Given the description of an element on the screen output the (x, y) to click on. 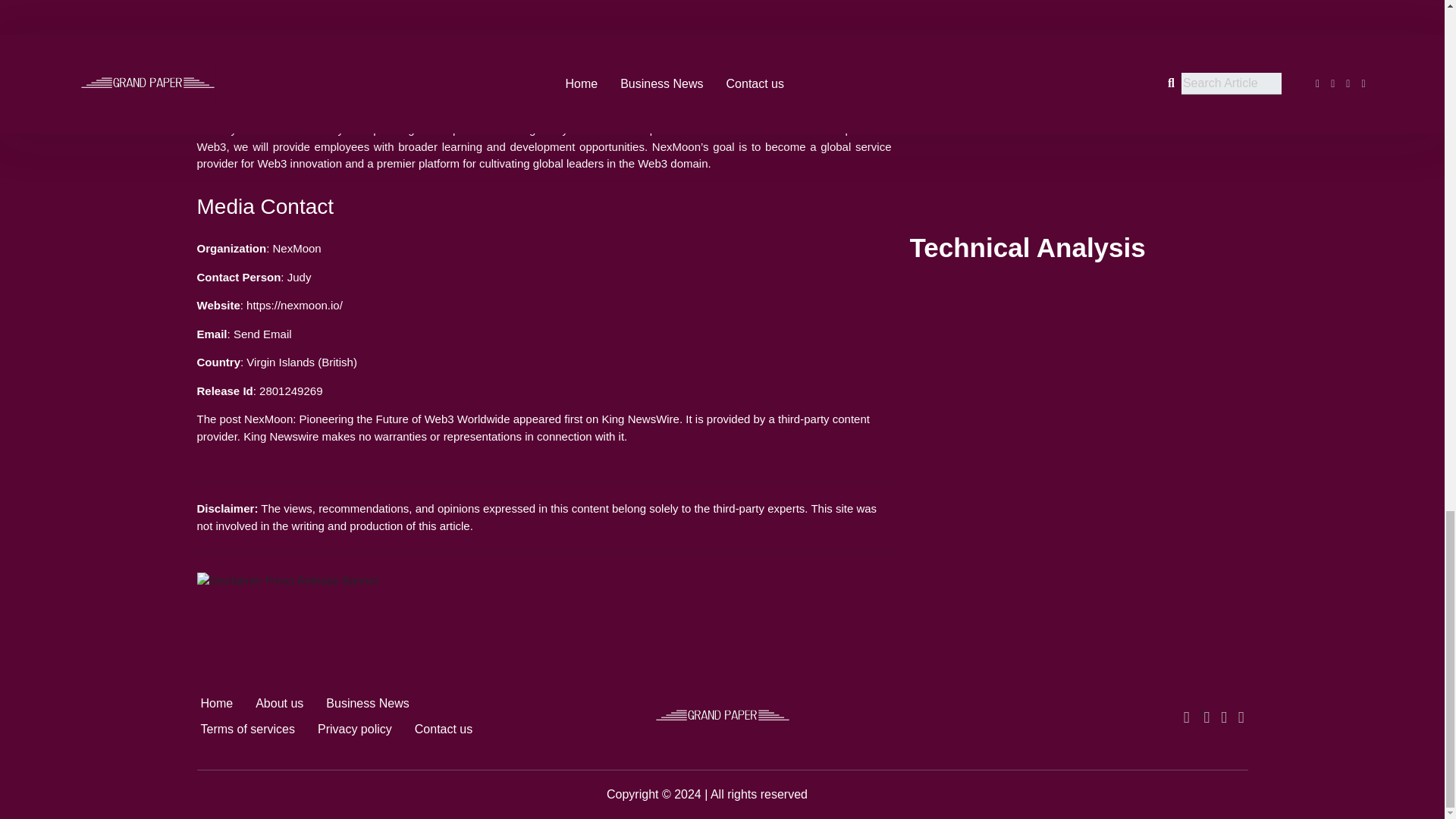
Home (216, 703)
Business News (367, 703)
Privacy policy (354, 728)
Contact us (442, 728)
King NewsWire (640, 418)
About us (279, 703)
NexMoon: Pioneering the Future of Web3 Worldwide (376, 418)
Send Email (262, 333)
Terms of services (247, 728)
